Given the description of an element on the screen output the (x, y) to click on. 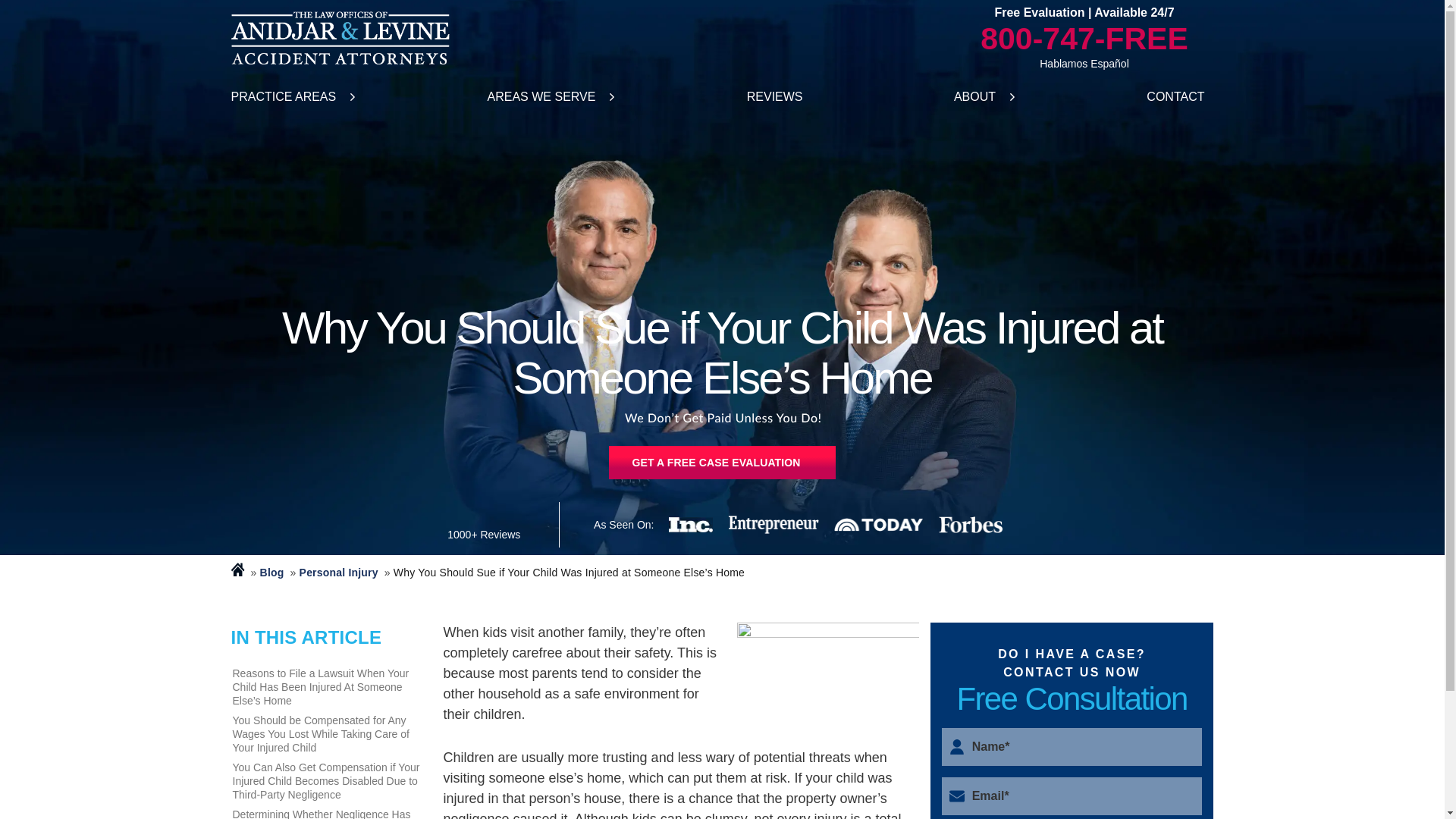
ABOUT (974, 96)
Forbes (971, 524)
SPEAK TO AN ATTORNEY NOW  (721, 462)
AREAS WE SERVE (541, 96)
CONTACT (1175, 96)
Today (878, 524)
REVIEWS (774, 96)
PRACTICE AREAS (283, 96)
